Given the description of an element on the screen output the (x, y) to click on. 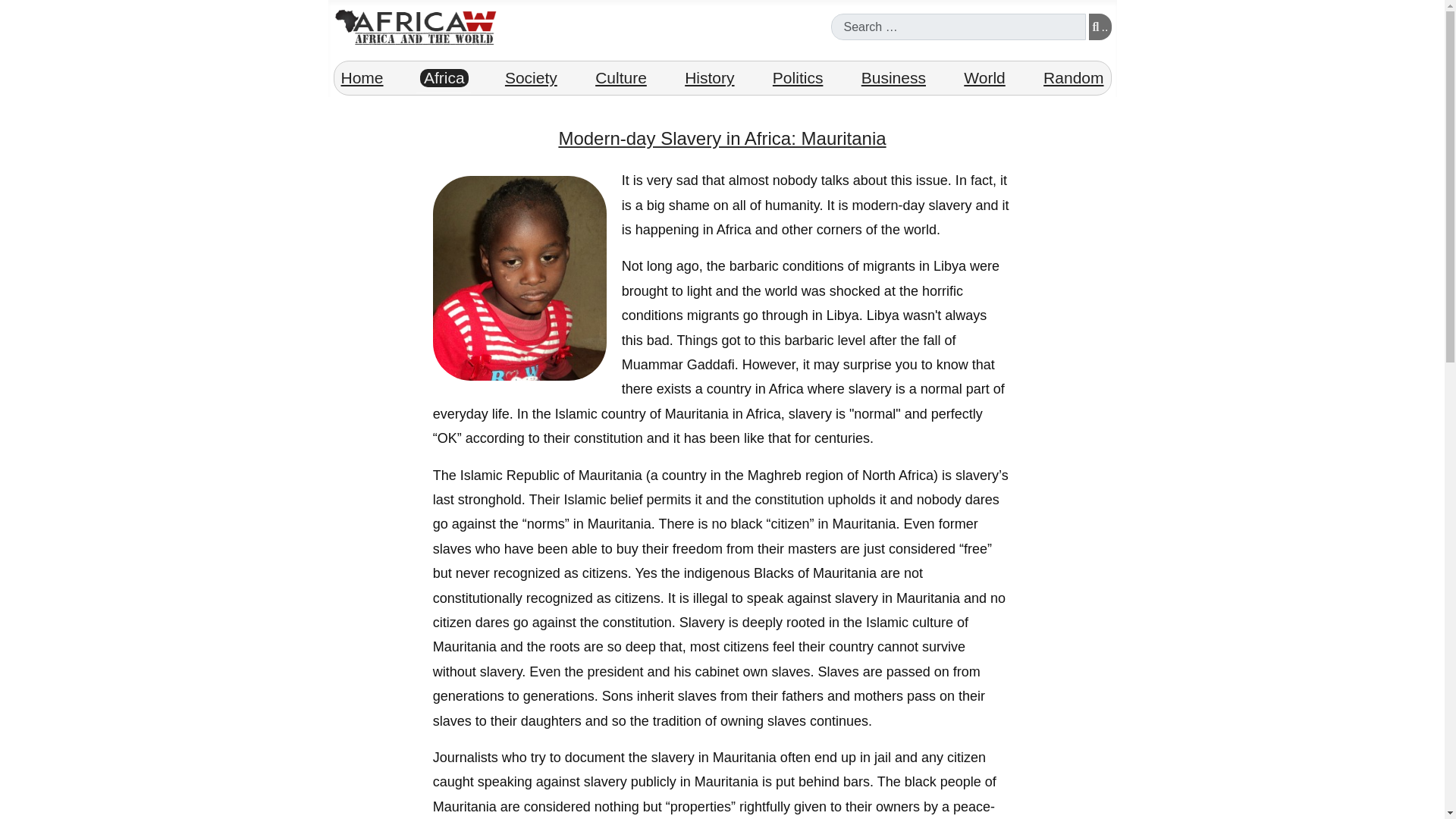
Culture (620, 77)
History (709, 77)
Africa (444, 77)
Society (530, 77)
Home (361, 77)
